Given the description of an element on the screen output the (x, y) to click on. 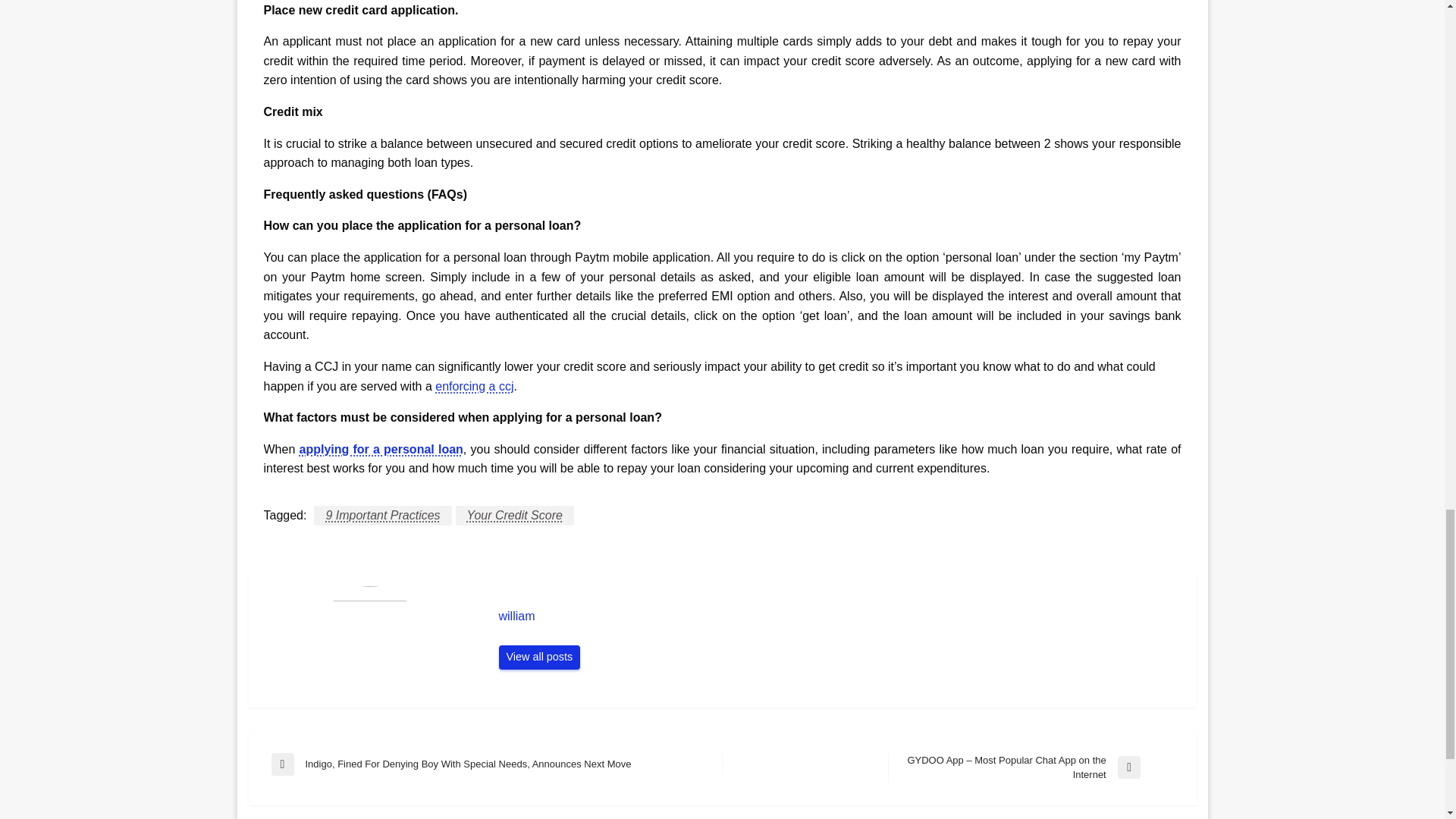
william (839, 616)
9 Important Practices (382, 515)
william (539, 657)
william (839, 616)
View all posts (539, 657)
Your Credit Score (514, 515)
applying for a personal loan (380, 449)
enforcing a ccj (474, 386)
